Given the description of an element on the screen output the (x, y) to click on. 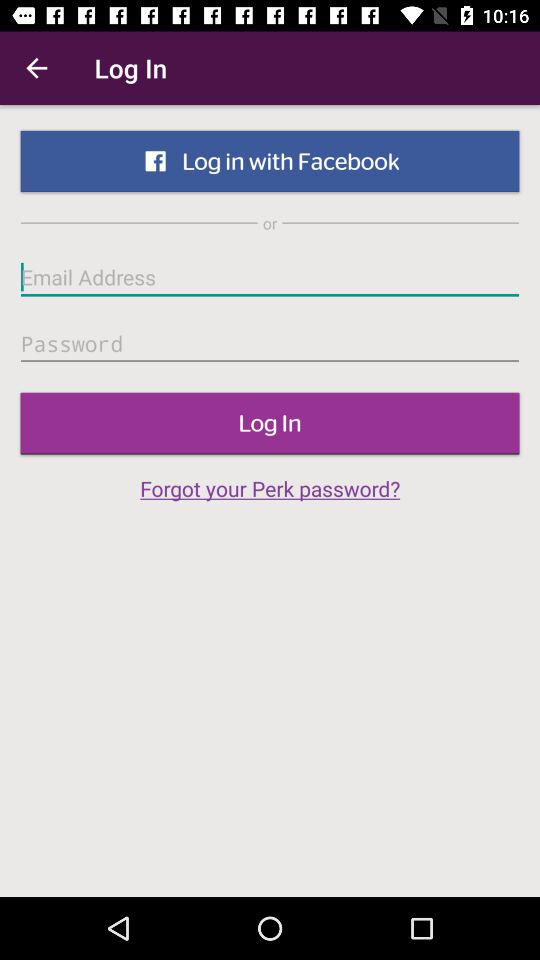
enter email address (269, 277)
